Given the description of an element on the screen output the (x, y) to click on. 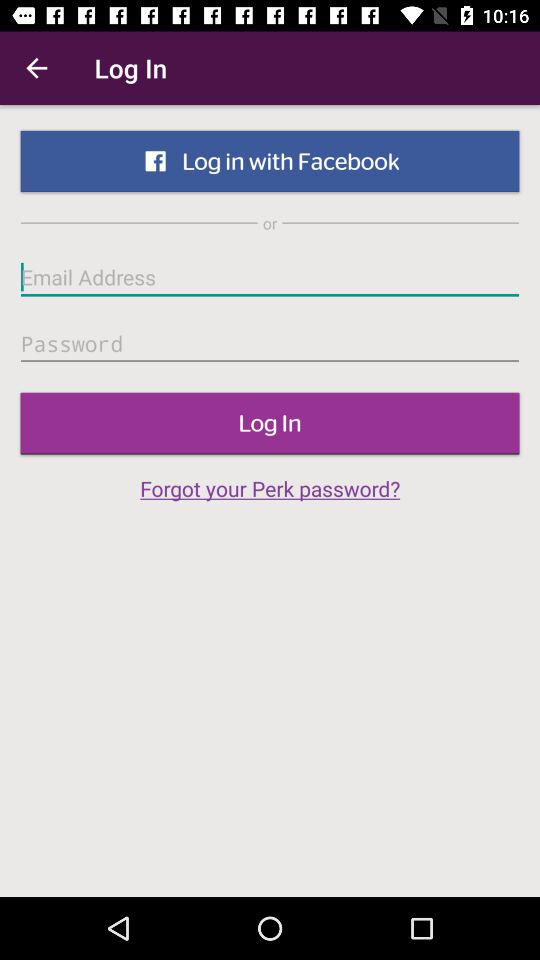
enter email address (269, 277)
